Given the description of an element on the screen output the (x, y) to click on. 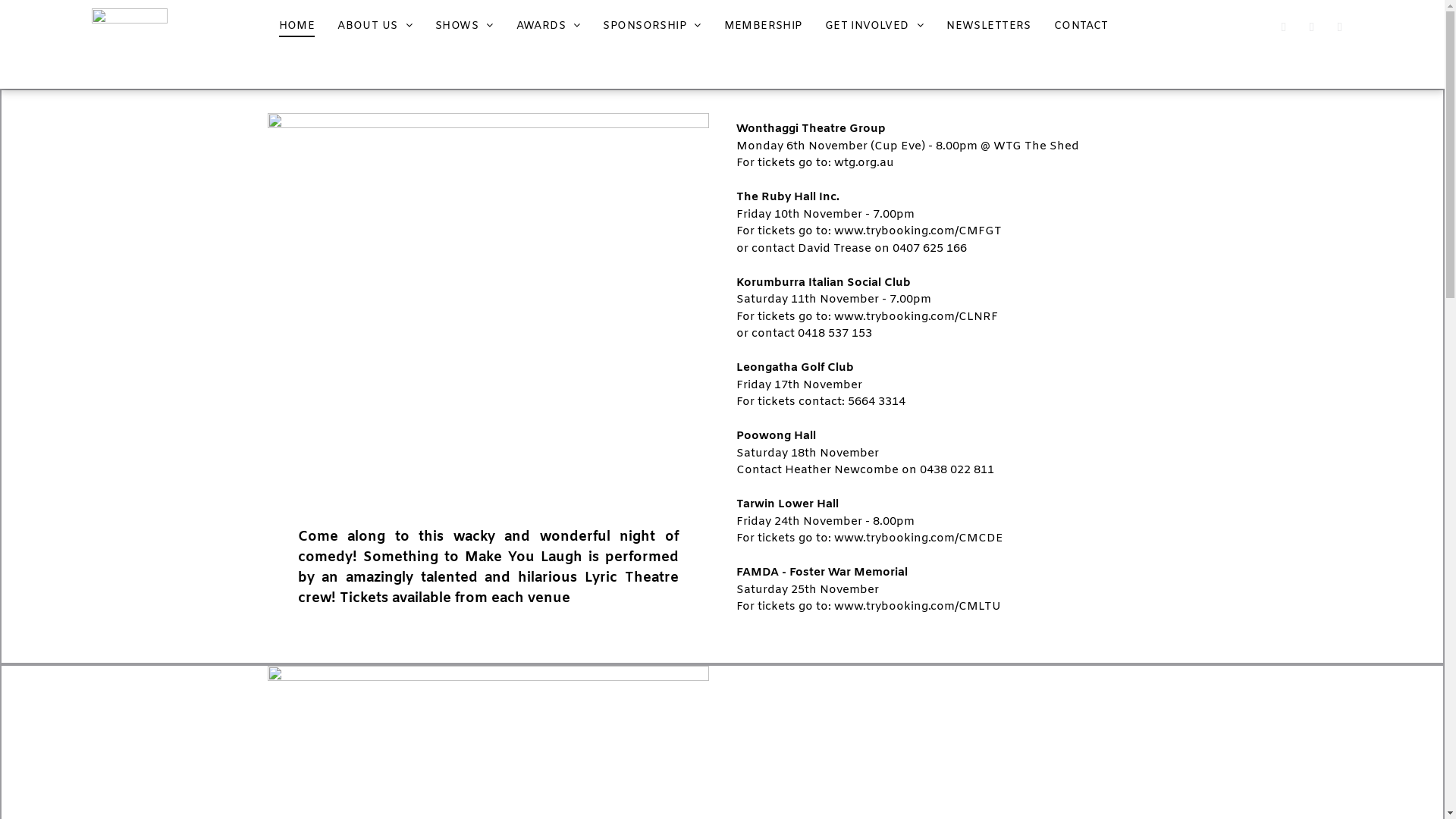
SPONSORSHIP Element type: text (651, 25)
AWARDS Element type: text (548, 25)
NEWSLETTERS Element type: text (988, 25)
GET INVOLVED Element type: text (874, 25)
MEMBERSHIP Element type: text (762, 25)
SHOWS Element type: text (464, 25)
HOME Element type: text (296, 25)
CONTACT Element type: text (1081, 25)
ABOUT US Element type: text (374, 25)
